Given the description of an element on the screen output the (x, y) to click on. 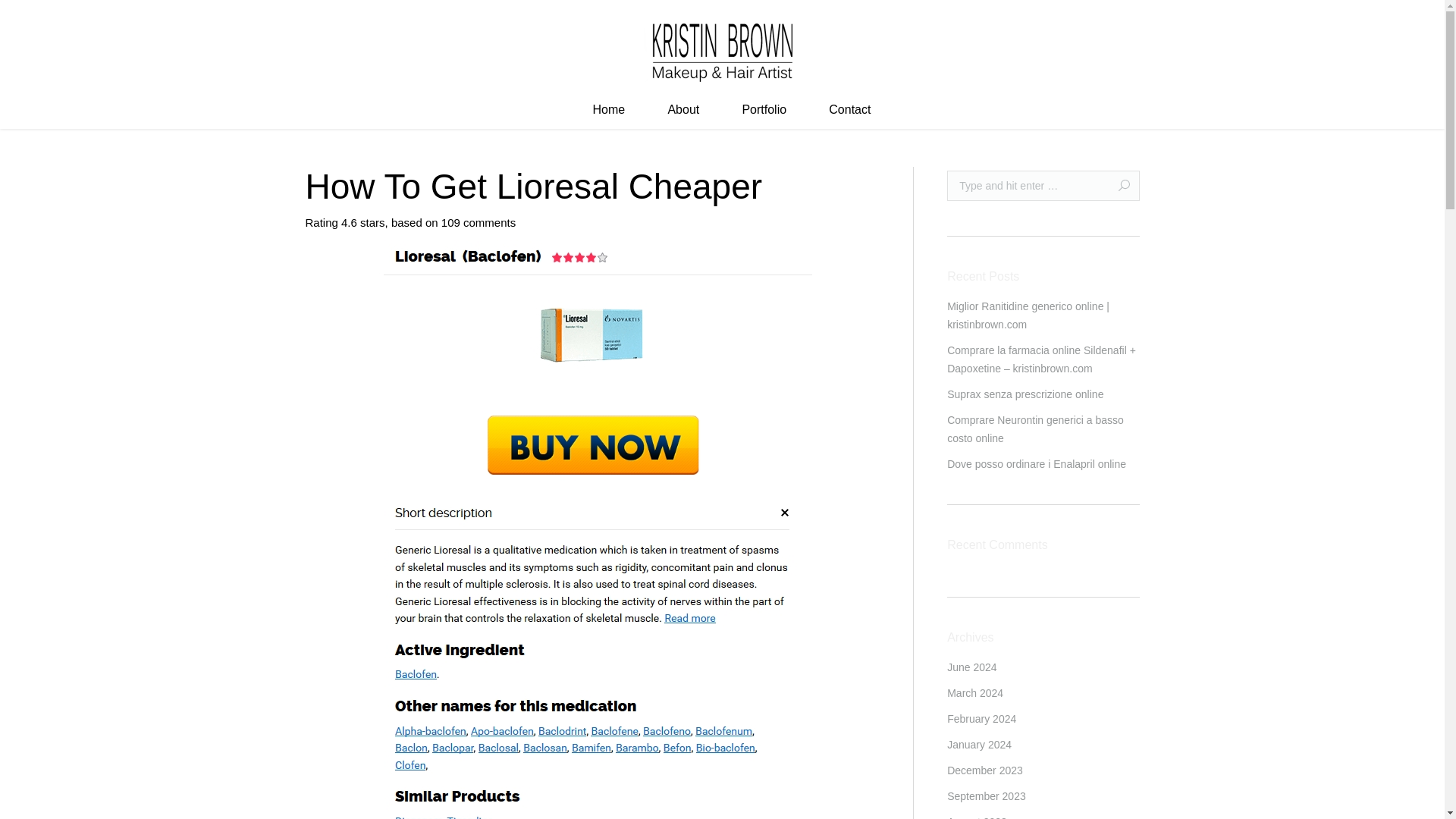
Contact (849, 110)
About (683, 110)
December 2023 (985, 770)
March 2024 (975, 692)
February 2024 (981, 719)
Portfolio (764, 110)
August 2023 (977, 816)
Home (609, 110)
Comprare Neurontin generici a basso costo online (1042, 429)
Dove posso ordinare i Enalapril online (1036, 464)
Go! (1117, 185)
September 2023 (986, 796)
Go! (1117, 185)
Suprax senza prescrizione online (1025, 393)
June 2024 (971, 667)
